Given the description of an element on the screen output the (x, y) to click on. 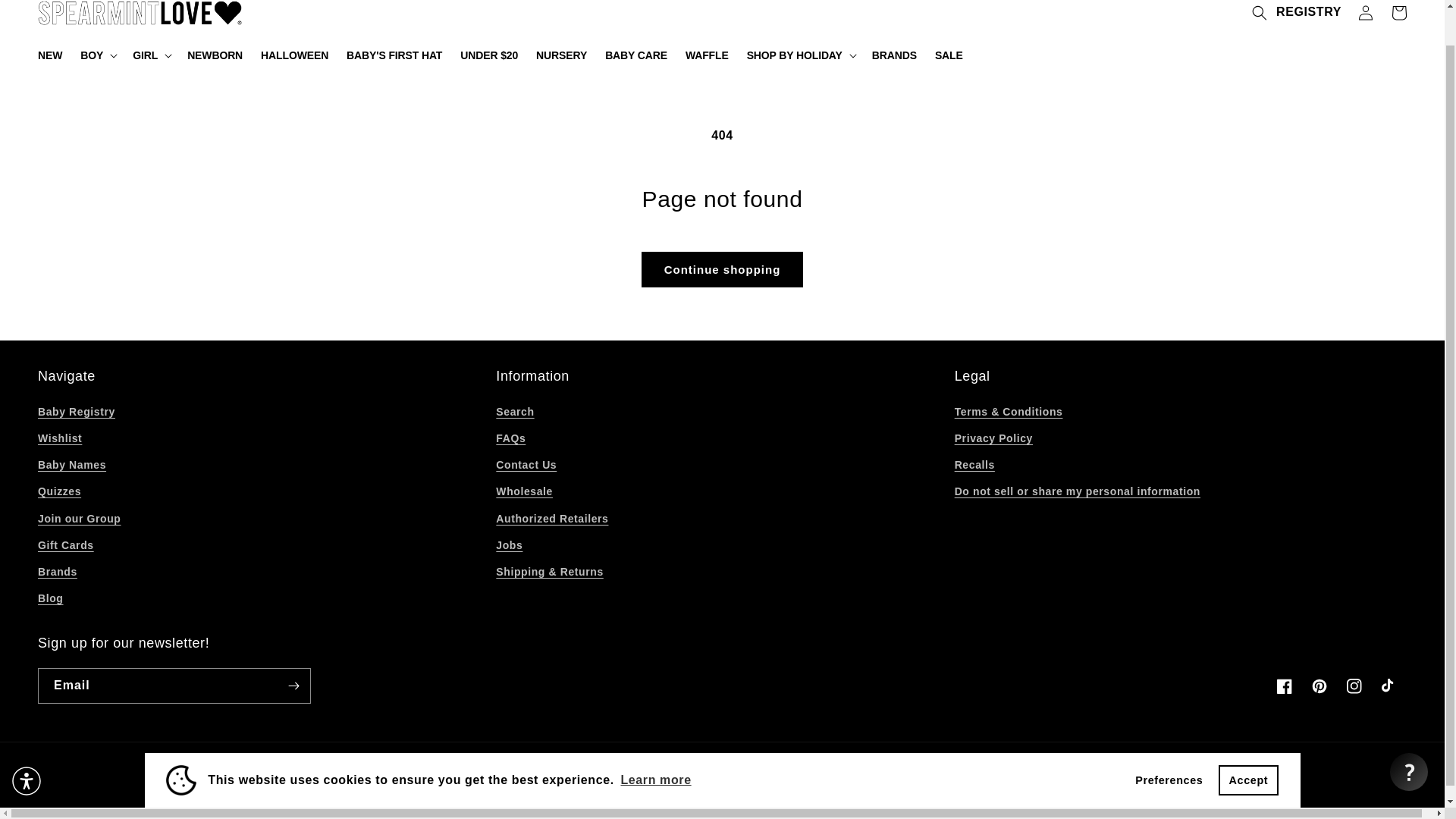
Learn more (655, 743)
Preferences (1168, 743)
Accept (1248, 743)
Accessibility Menu (26, 743)
